Given the description of an element on the screen output the (x, y) to click on. 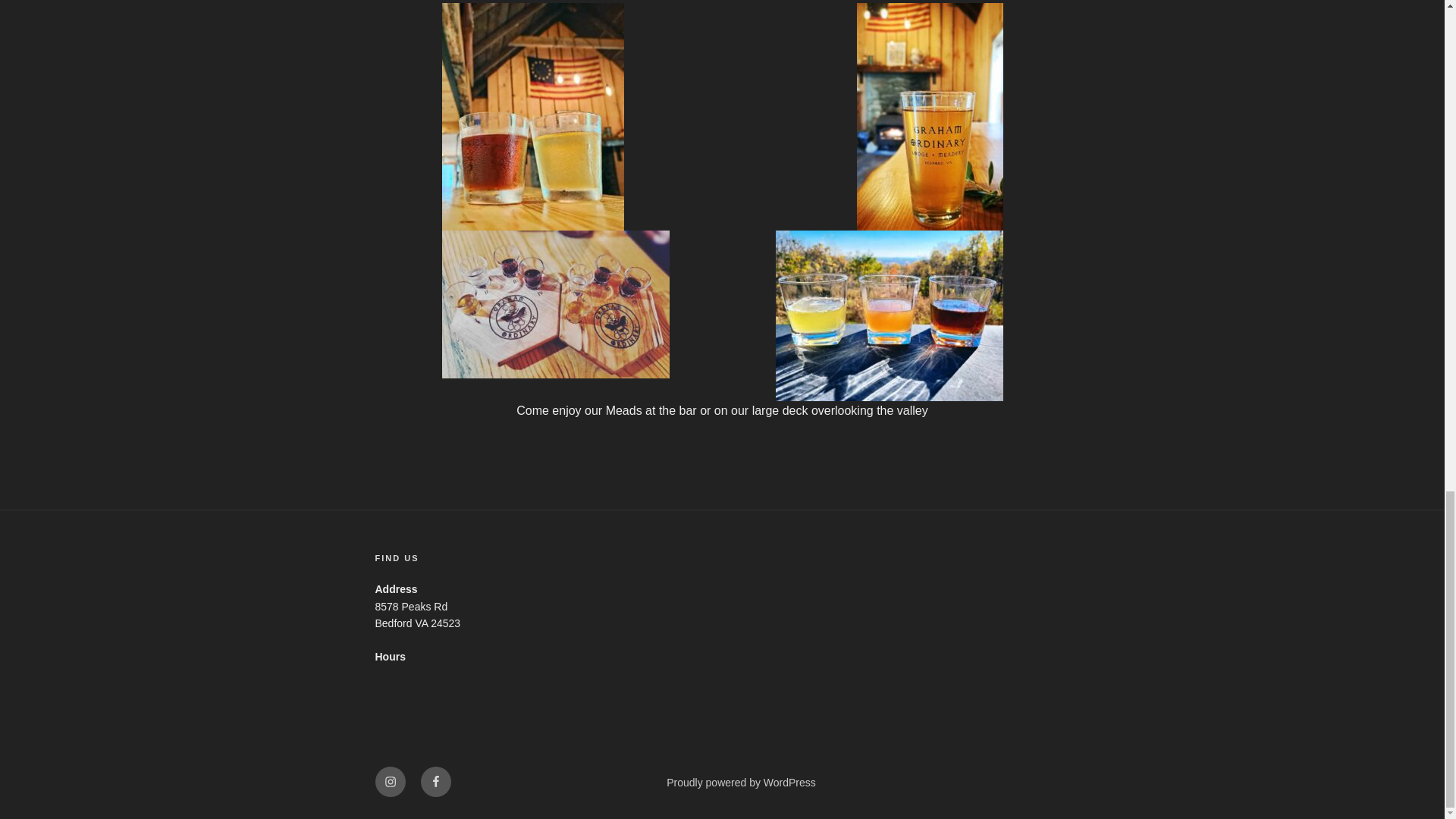
Instagram (389, 781)
Facebook (435, 781)
Proudly powered by WordPress (740, 782)
